Given the description of an element on the screen output the (x, y) to click on. 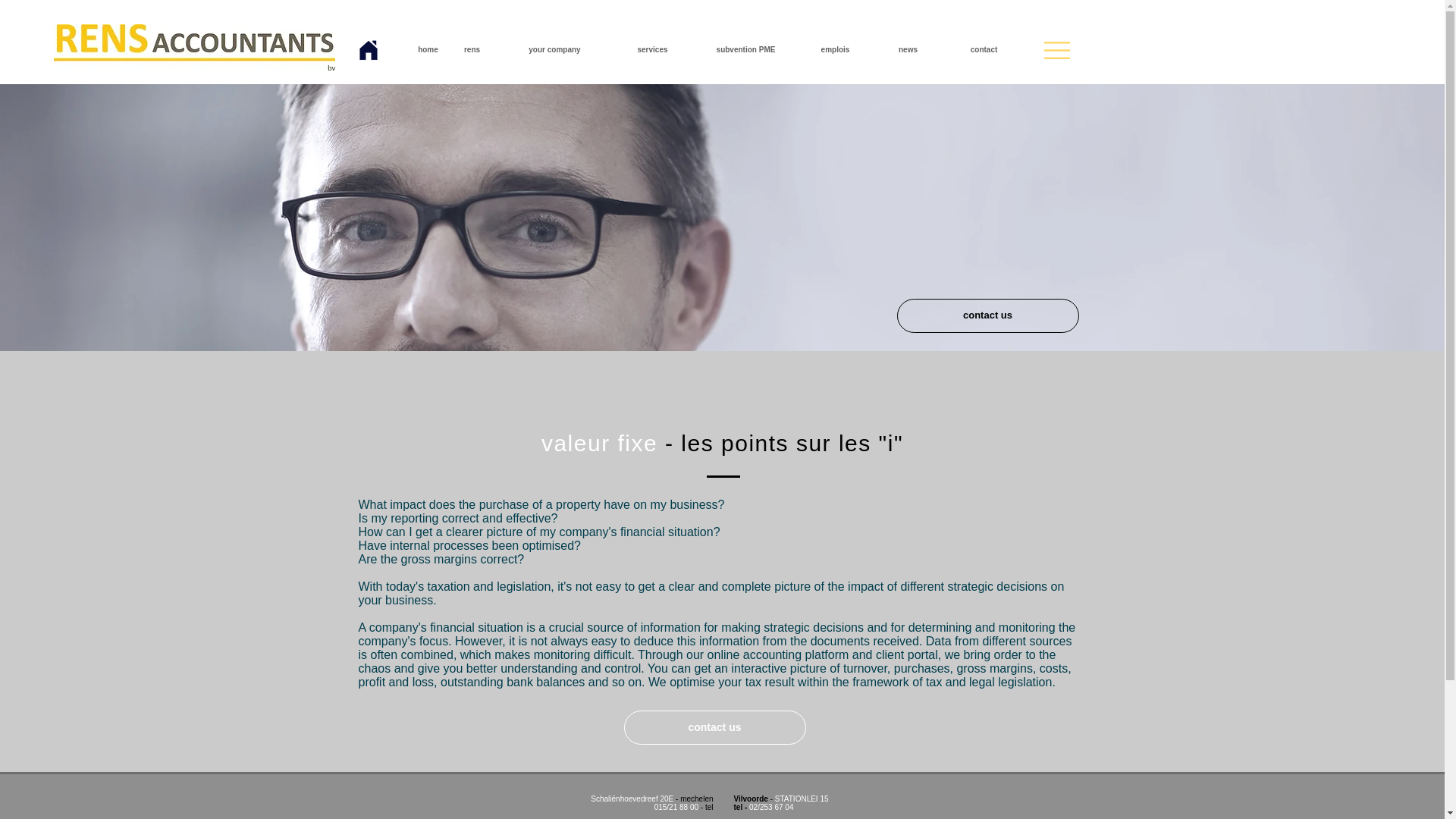
contact us (714, 727)
contact us (987, 315)
home (427, 50)
tel - (741, 807)
services (651, 50)
your company (555, 50)
subvention PME (745, 50)
emplois (834, 50)
contact (983, 50)
rens (471, 50)
STATIONLEI 15 (801, 798)
news (907, 50)
Vilvoorde - (753, 798)
